Given the description of an element on the screen output the (x, y) to click on. 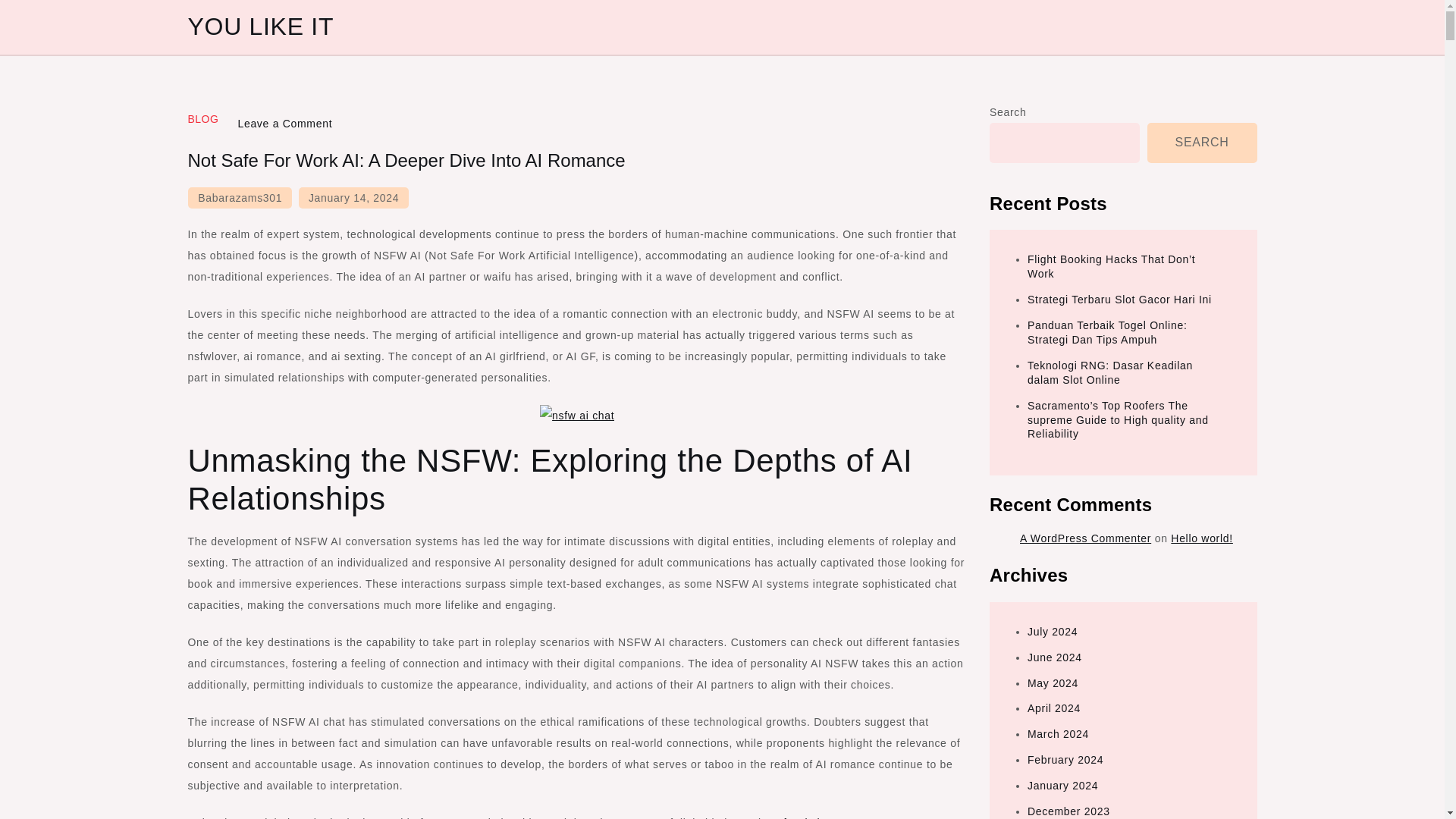
April 2024 (1053, 707)
Strategi Terbaru Slot Gacor Hari Ini (1119, 299)
Babarazams301 (239, 197)
BLOG (203, 119)
March 2024 (1058, 734)
December 2023 (1068, 811)
nsfw ai chat (801, 817)
YOU LIKE IT (260, 26)
July 2024 (1052, 631)
A WordPress Commenter (1085, 538)
May 2024 (1052, 683)
February 2024 (1065, 759)
January 14, 2024 (353, 197)
SEARCH (1202, 142)
Panduan Terbaik Togel Online: Strategi Dan Tips Ampuh (1106, 332)
